Given the description of an element on the screen output the (x, y) to click on. 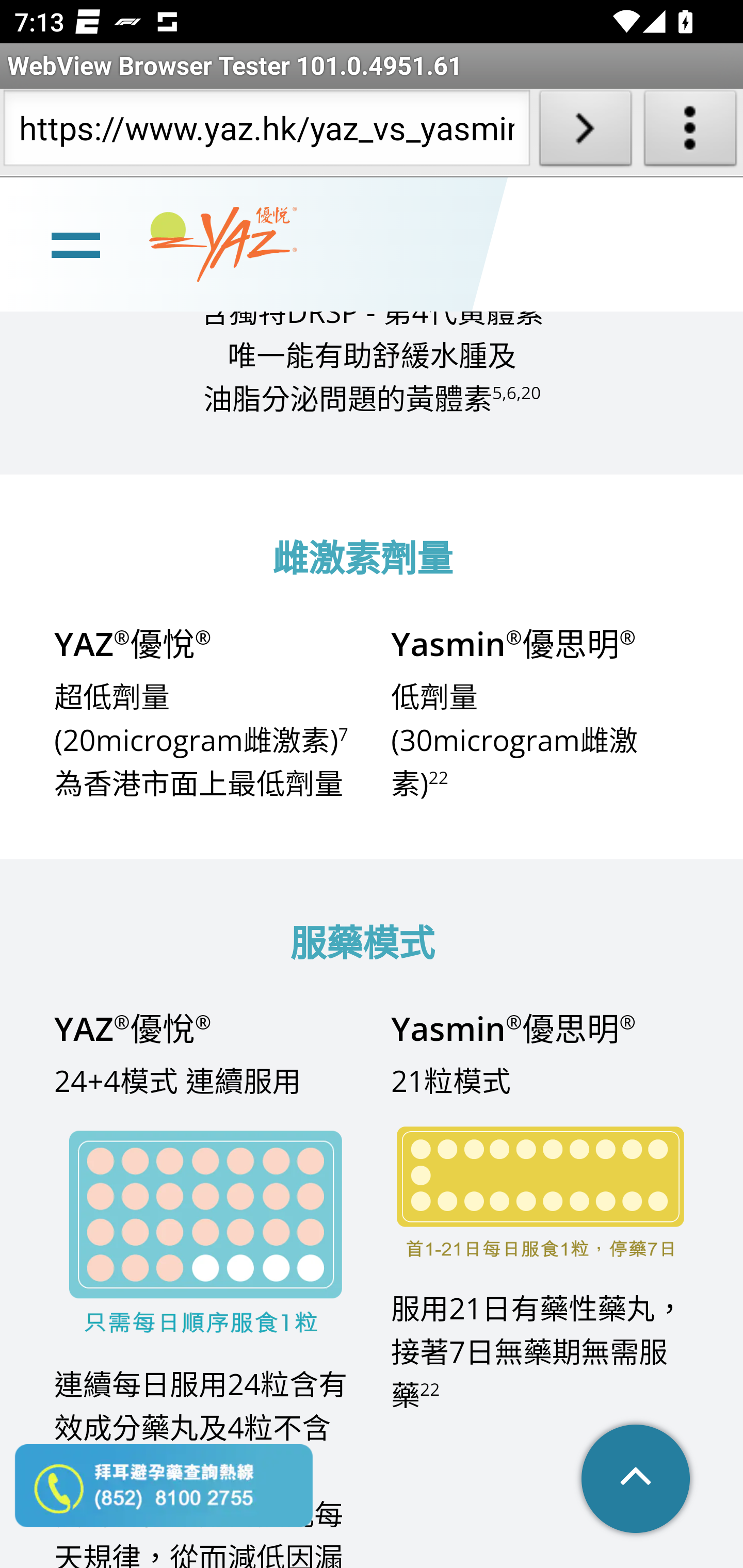
Load URL (585, 132)
About WebView (690, 132)
www.yaz (222, 244)
line Toggle burger menu (75, 245)
 (636, 1480)
